Given the description of an element on the screen output the (x, y) to click on. 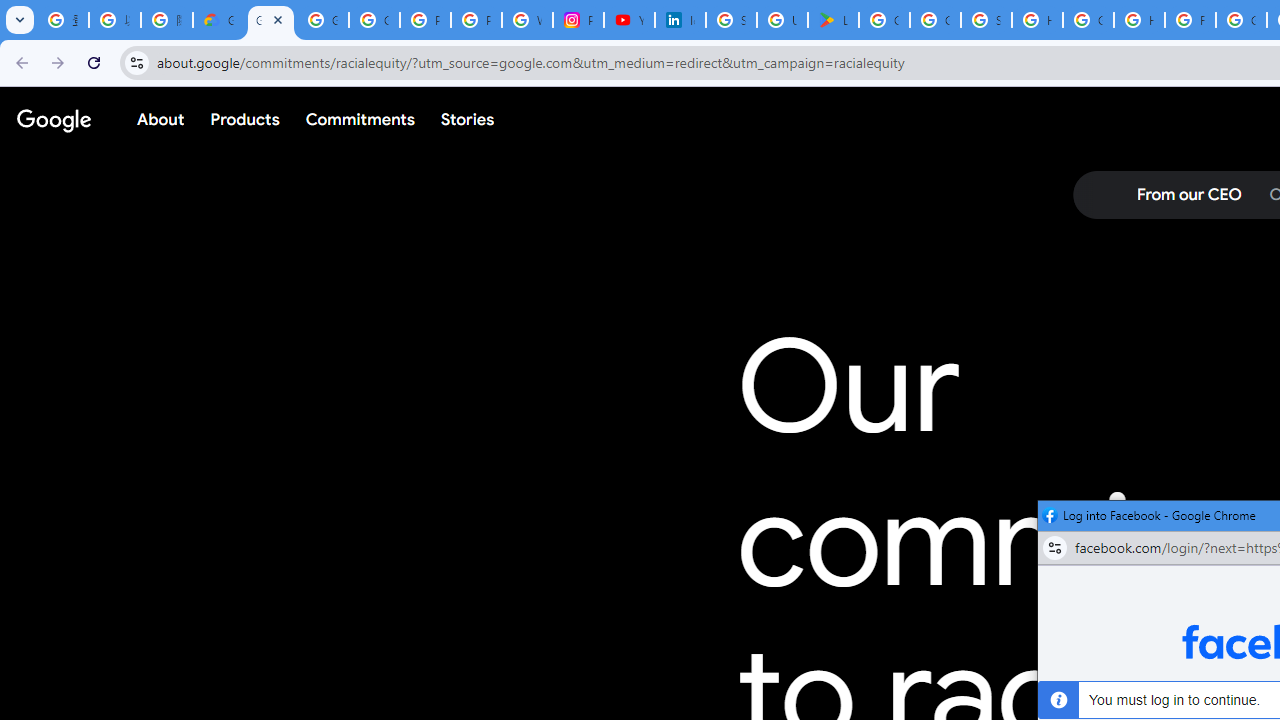
Last Shelter: Survival - Apps on Google Play (832, 20)
From our CEO: Jump to page section (1188, 195)
Sign in - Google Accounts (731, 20)
